Given the description of an element on the screen output the (x, y) to click on. 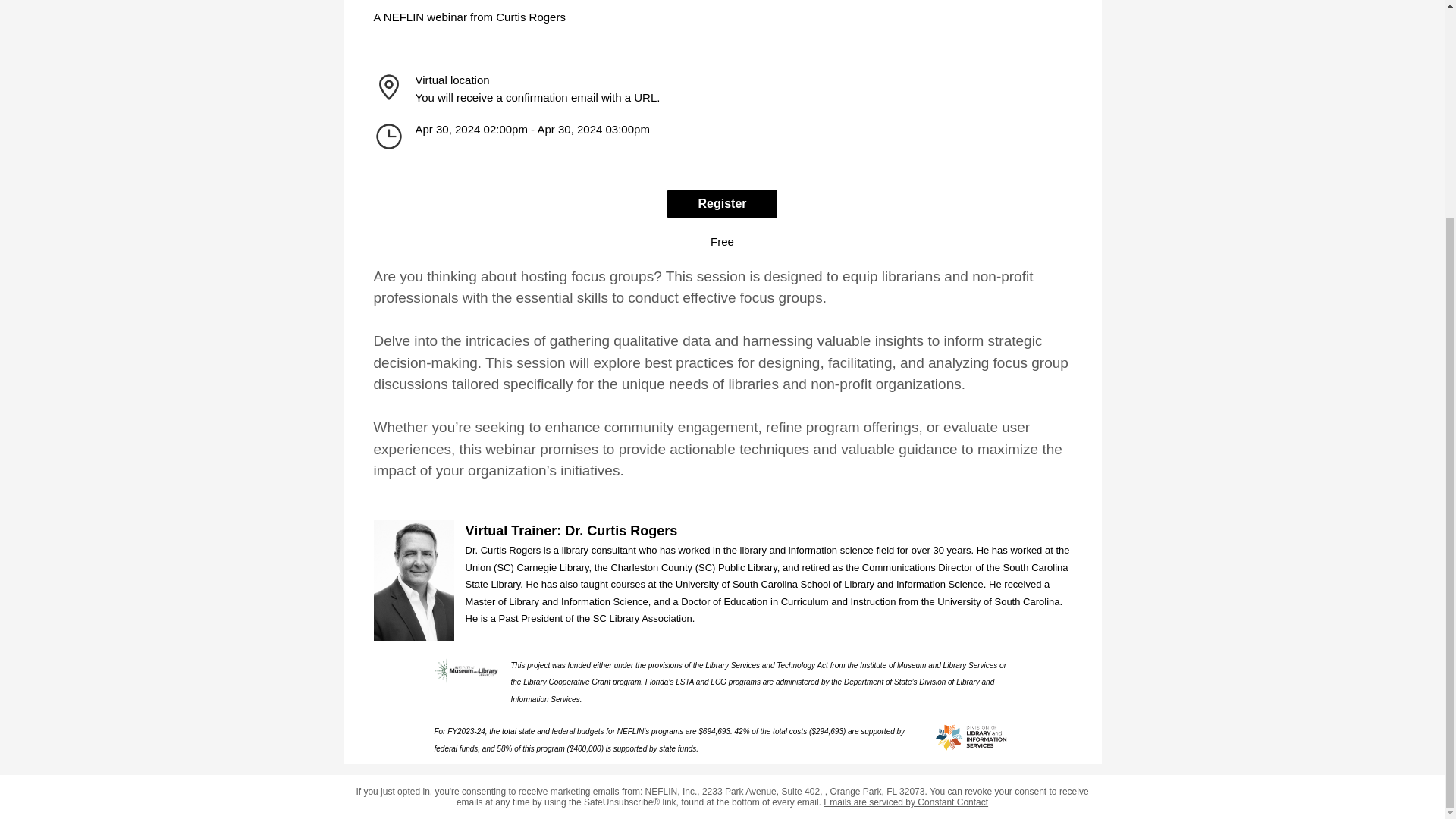
Emails are serviced by Constant Contact (906, 801)
Register (721, 203)
